Given the description of an element on the screen output the (x, y) to click on. 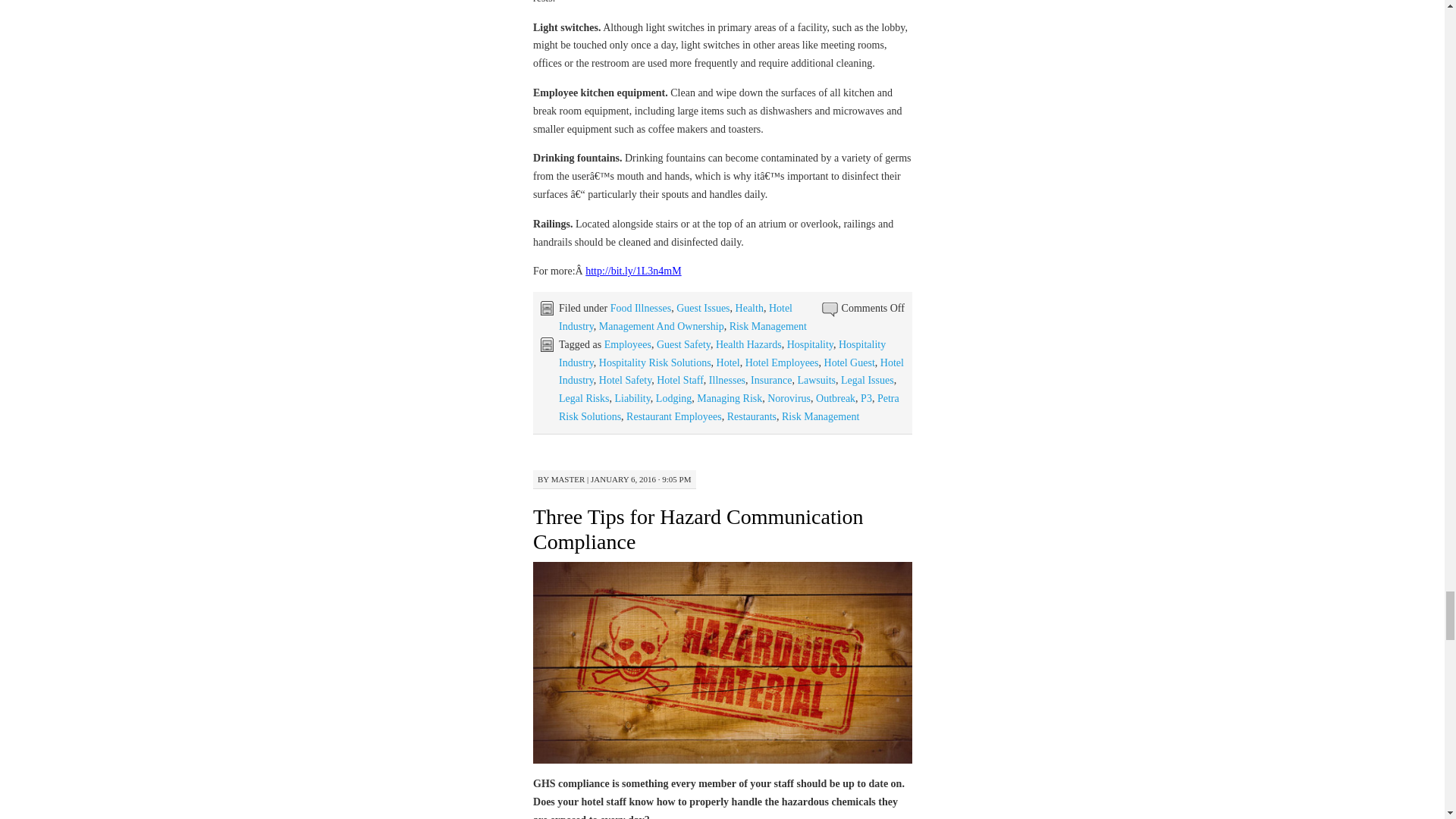
View all posts by master (568, 479)
